Given the description of an element on the screen output the (x, y) to click on. 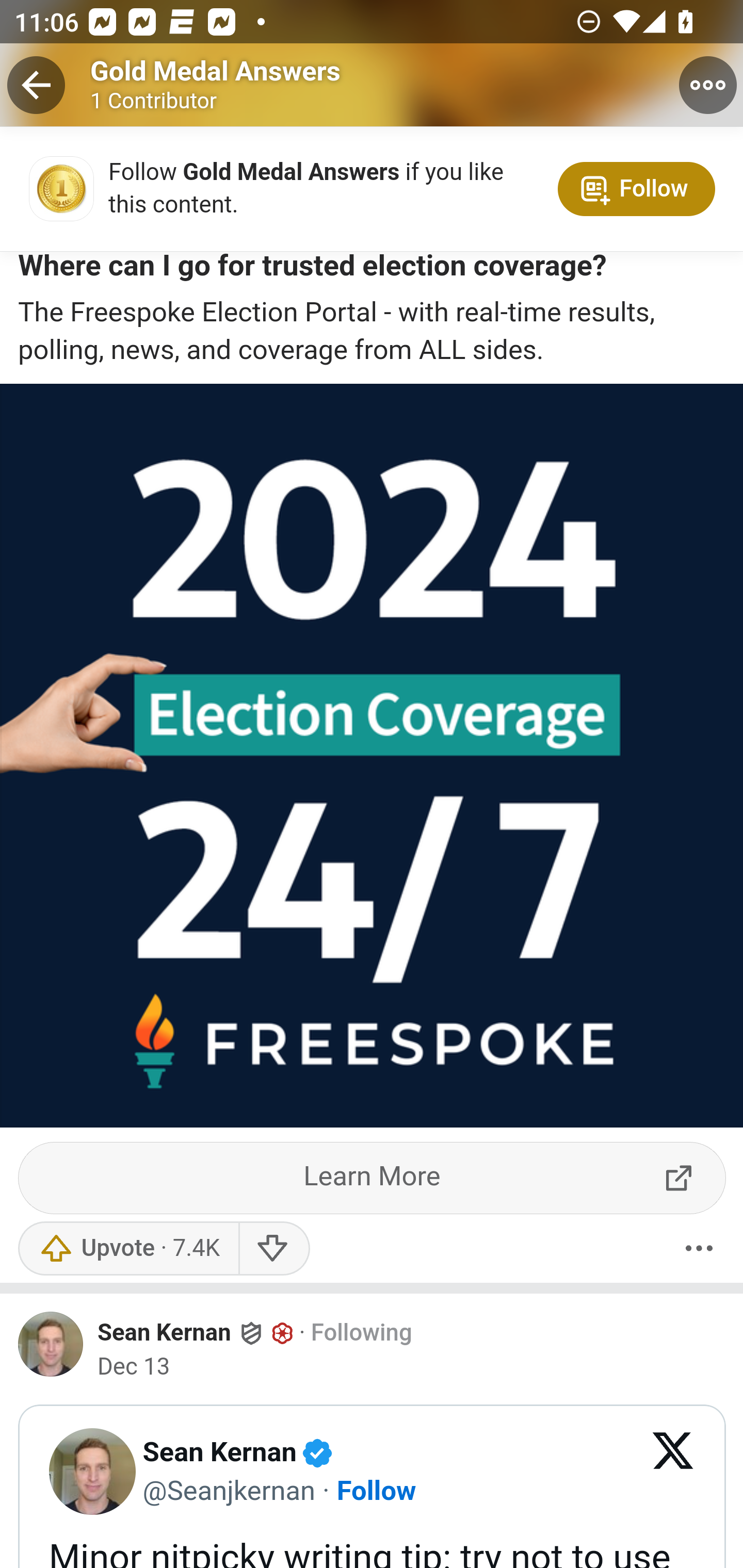
main-qimg-784c0b59c1772b60fd46a882711c92a8 (50, 193)
Where can I go for trusted election coverage? (312, 270)
Learn More ExternalLink (372, 1178)
Upvote (127, 1247)
Downvote (273, 1247)
More (699, 1247)
Profile photo for Sean Kernan (50, 1343)
Sean Kernan Sean Kernan     Space subscriber (195, 1332)
Following (361, 1333)
Space subscriber (282, 1333)
View on X (673, 1472)
@Seanjkernan (228, 1489)
Follow (375, 1489)
